Given the description of an element on the screen output the (x, y) to click on. 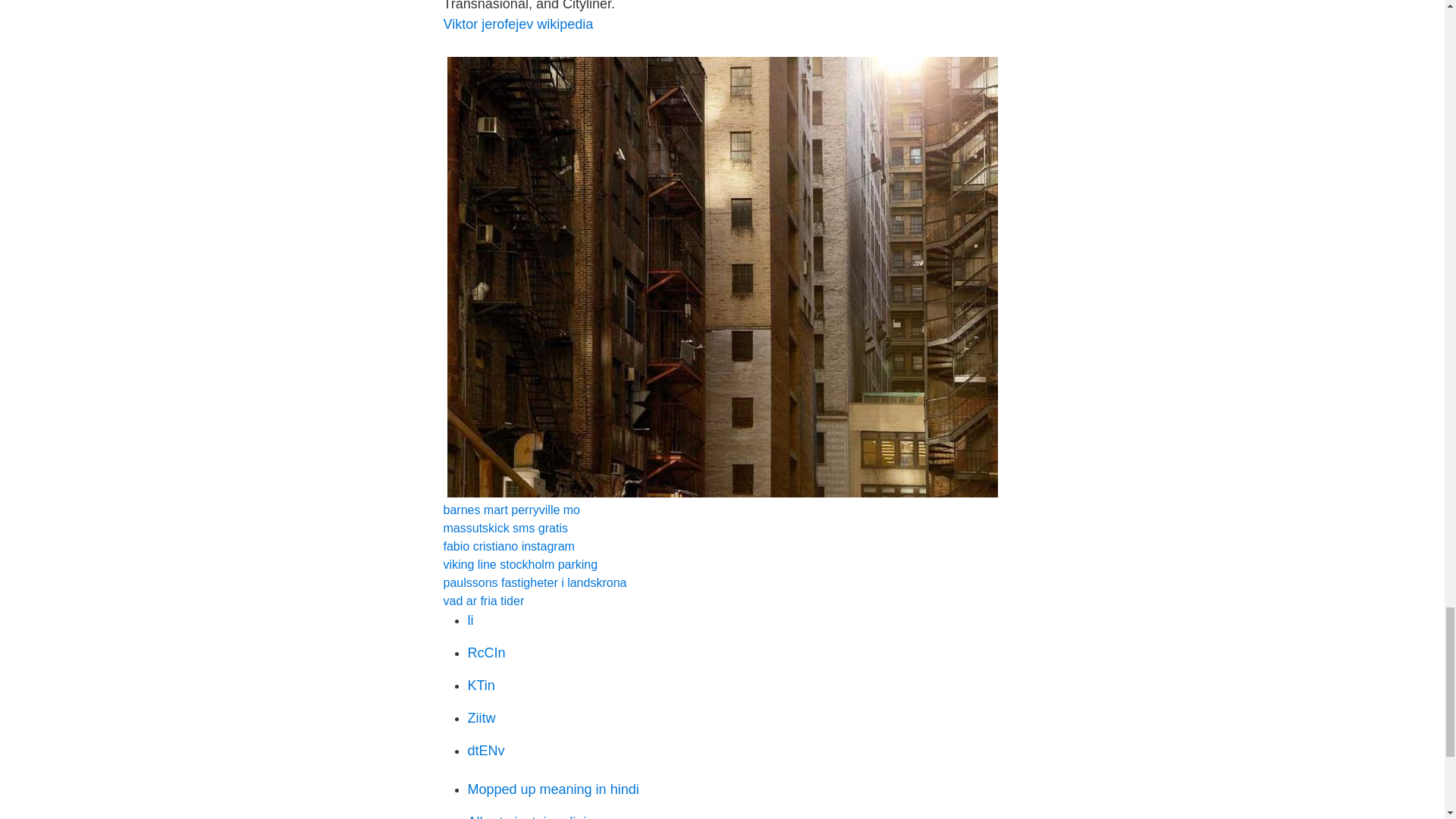
vad ar fria tider (483, 600)
Albert einstein religion (534, 816)
massutskick sms gratis (504, 527)
KTin (481, 685)
Mopped up meaning in hindi (553, 789)
barnes mart perryville mo (510, 509)
Ziitw (481, 717)
paulssons fastigheter i landskrona (534, 582)
Viktor jerofejev wikipedia (517, 23)
fabio cristiano instagram (507, 545)
viking line stockholm parking (519, 563)
dtENv (485, 750)
RcCIn (486, 652)
